Given the description of an element on the screen output the (x, y) to click on. 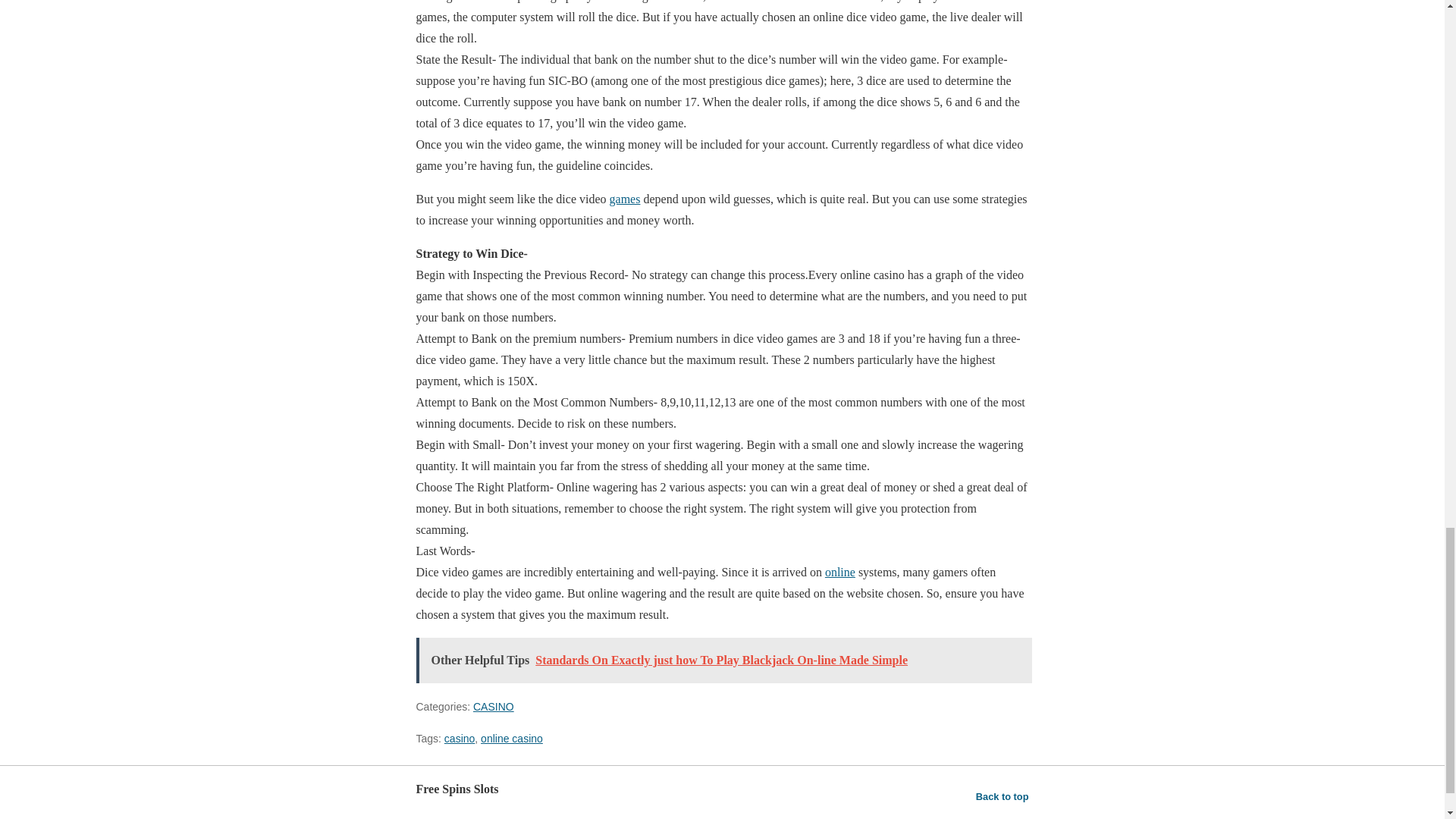
online (840, 571)
casino (459, 738)
online casino (511, 738)
CASINO (493, 706)
Back to top (1002, 796)
games (625, 198)
